Given the description of an element on the screen output the (x, y) to click on. 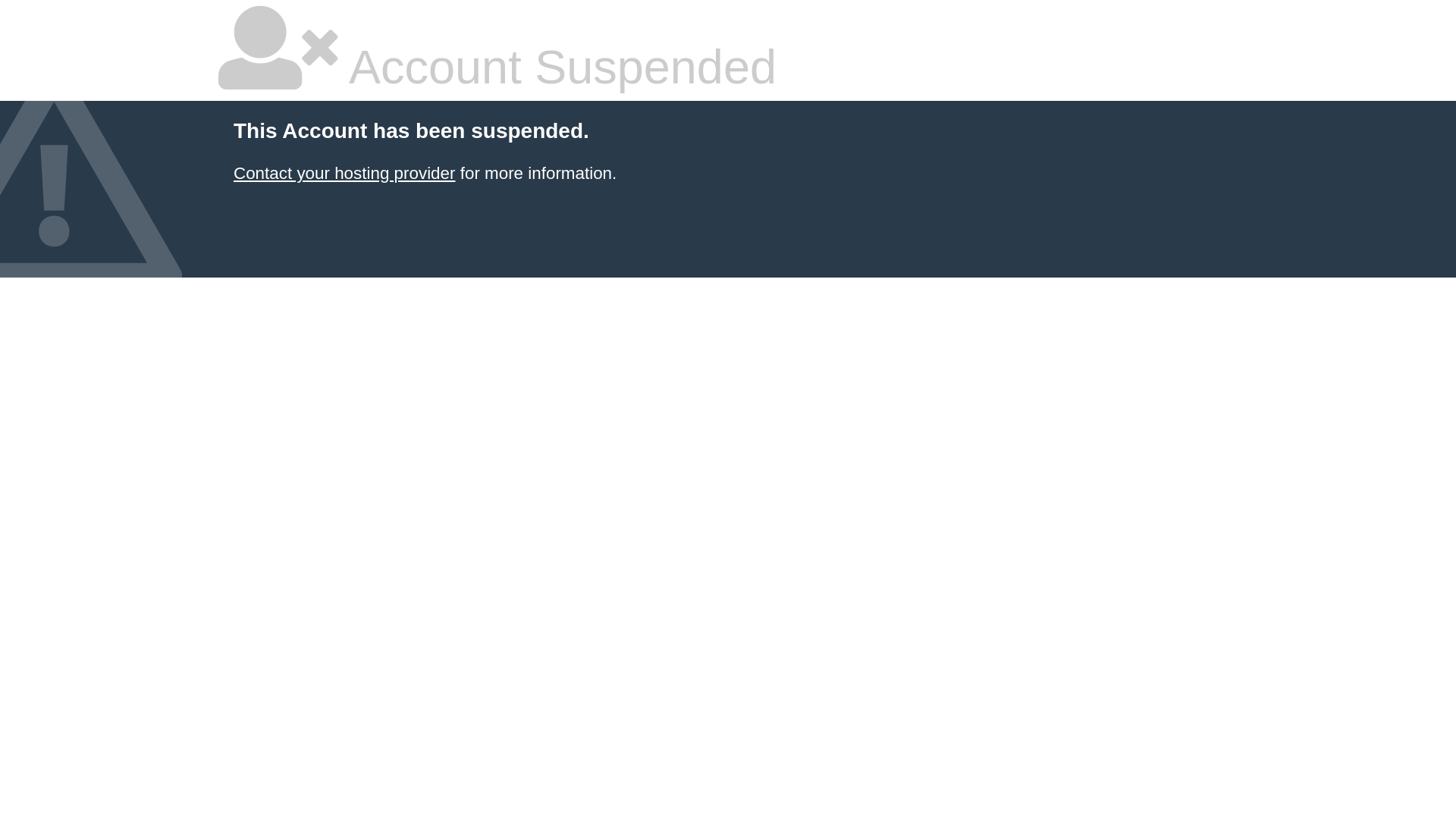
Contact your hosting provider Element type: text (344, 172)
